Given the description of an element on the screen output the (x, y) to click on. 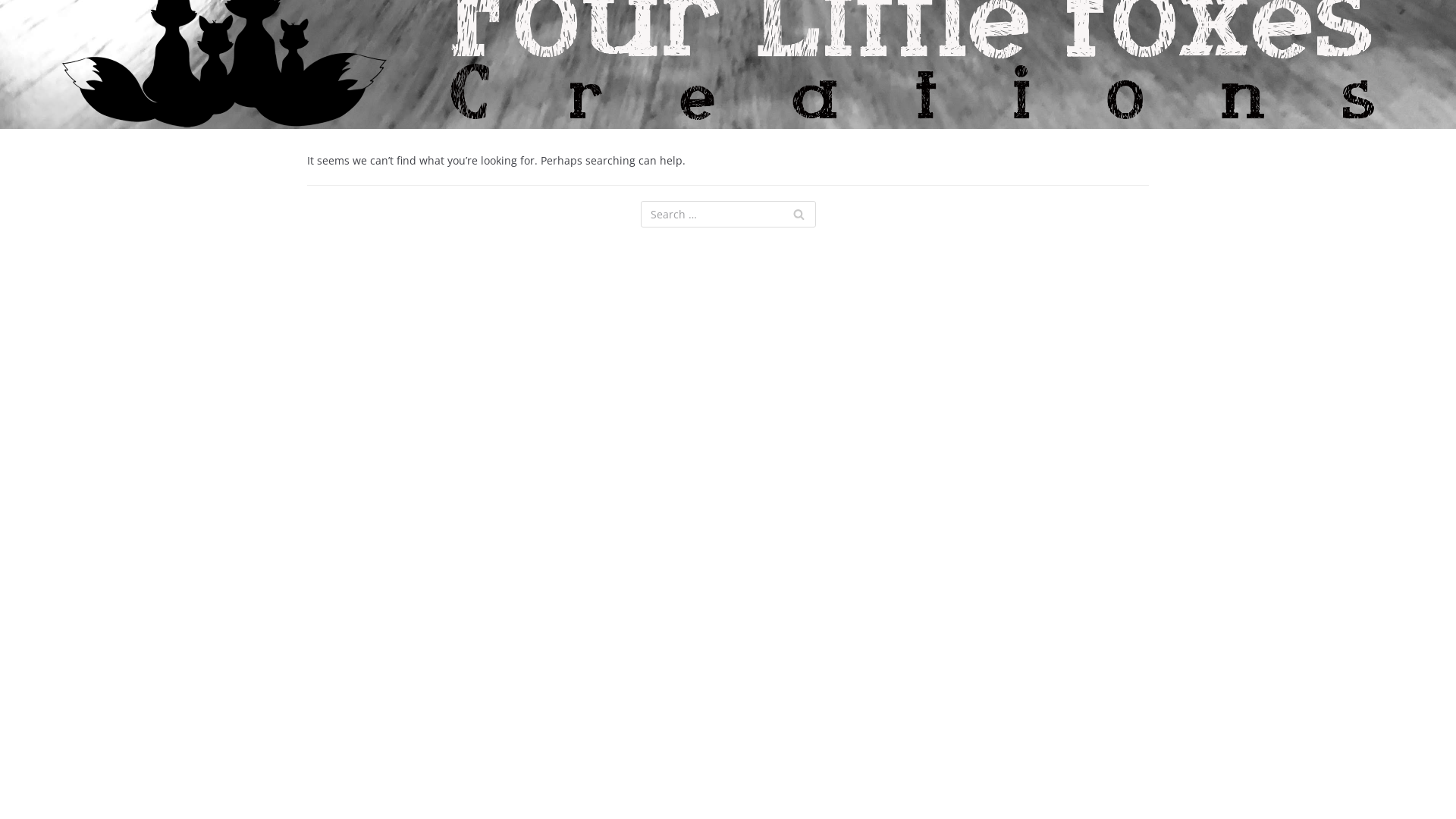
Search Element type: text (798, 213)
Skip to content Element type: text (15, 31)
